Given the description of an element on the screen output the (x, y) to click on. 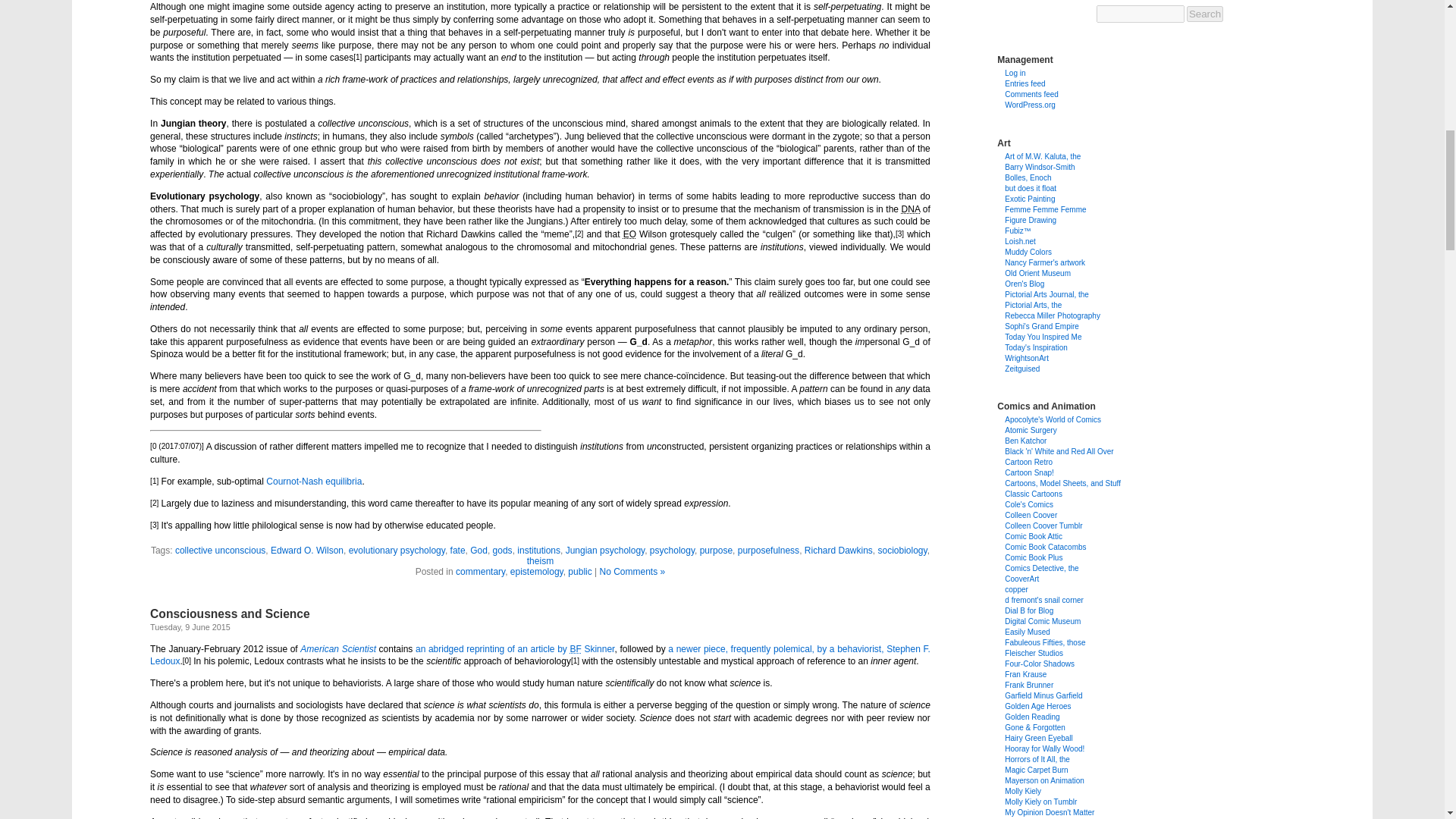
Search (1204, 13)
psychology (671, 550)
sociobiology (902, 550)
collective unconscious (219, 550)
institutions (538, 550)
Permanent Link to Consciousness and Science (229, 613)
Richard Dawkins (838, 550)
public (579, 571)
purpose (716, 550)
an abridged reprinting of an article by BF Skinner (514, 648)
